Given the description of an element on the screen output the (x, y) to click on. 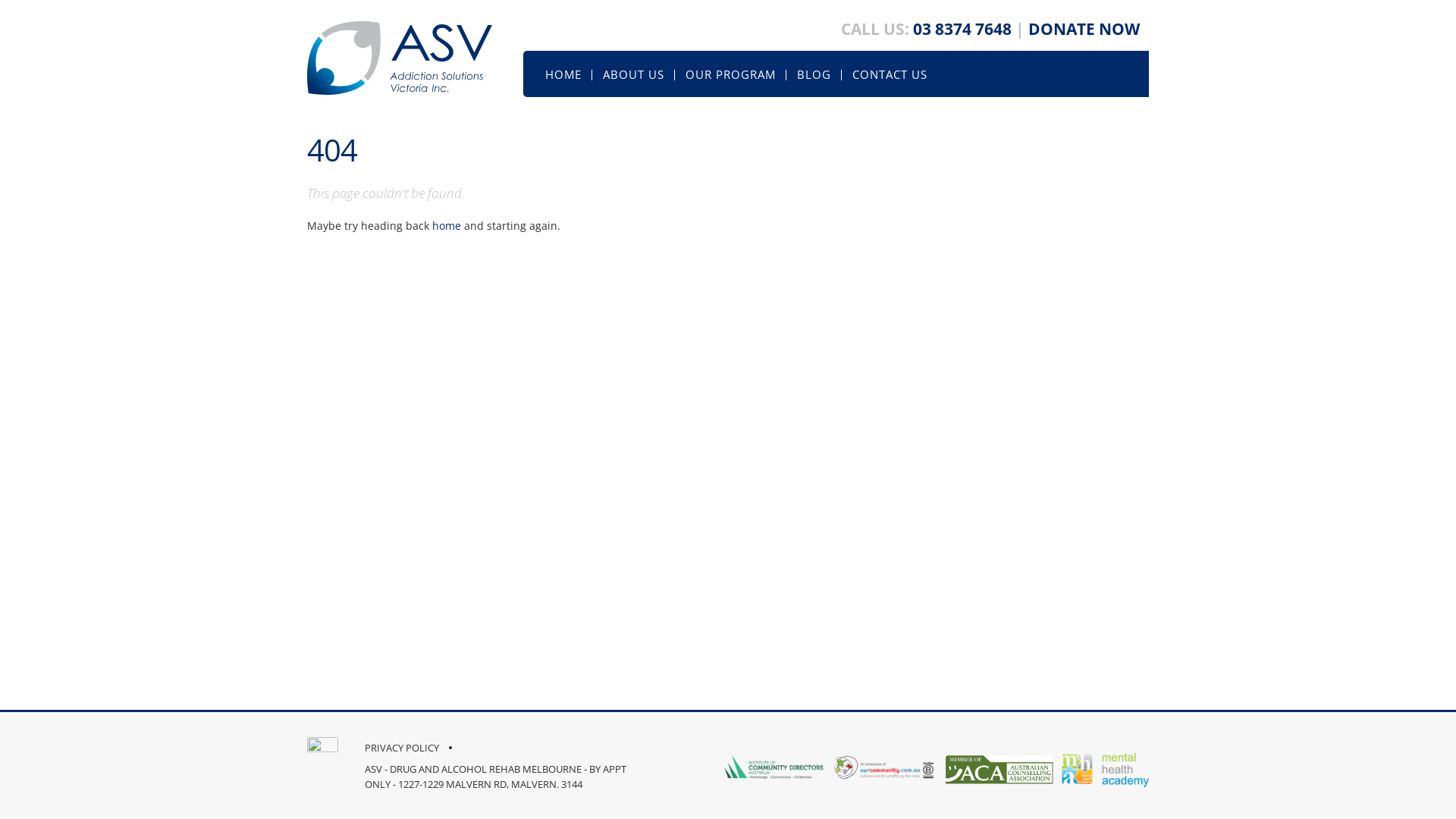
BLOG Element type: text (813, 73)
home Element type: text (446, 225)
DONATE NOW  Element type: text (1085, 28)
HOME Element type: text (563, 73)
OUR PROGRAM Element type: text (730, 73)
PRIVACY POLICY Element type: text (401, 747)
CONTACT US Element type: text (889, 73)
ABOUT US Element type: text (633, 73)
03 8374 7648 Element type: text (962, 28)
